Given the description of an element on the screen output the (x, y) to click on. 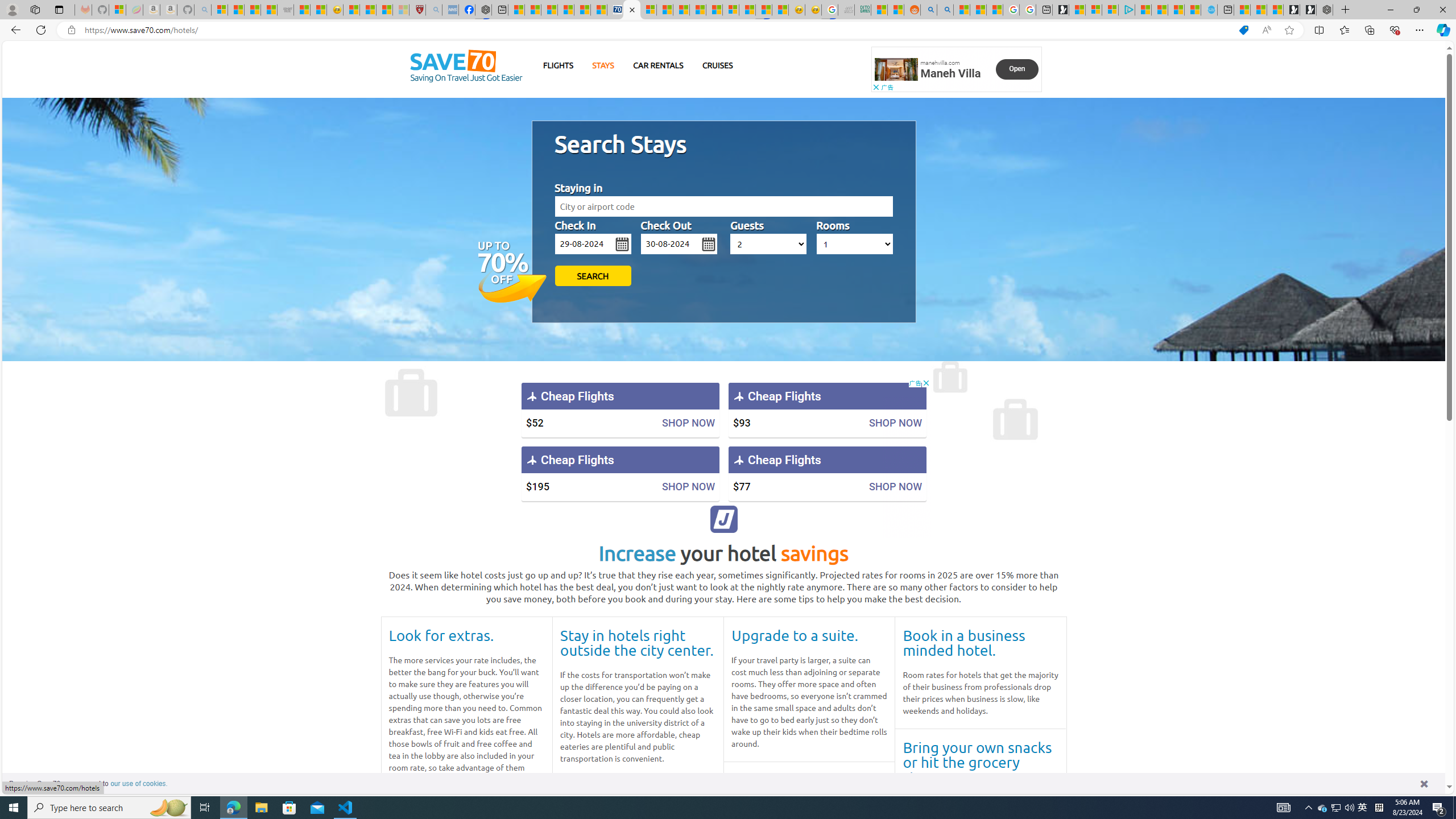
12 Popular Science Lies that Must be Corrected - Sleeping (400, 9)
SEARCH (592, 275)
AutomationID: hotels_passengers (768, 243)
